Given the description of an element on the screen output the (x, y) to click on. 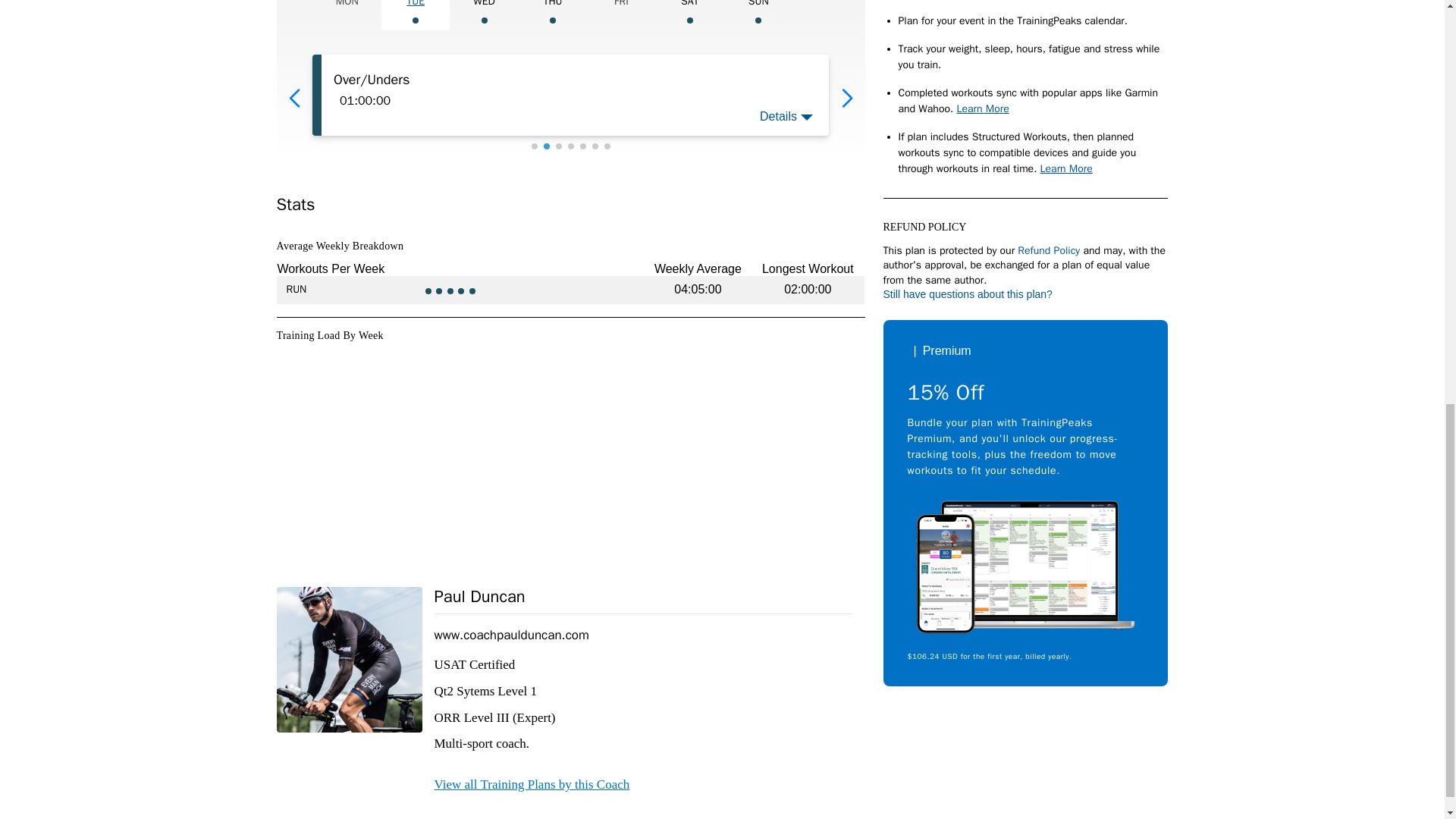
View all Training Plans by this Coach (530, 784)
